Given the description of an element on the screen output the (x, y) to click on. 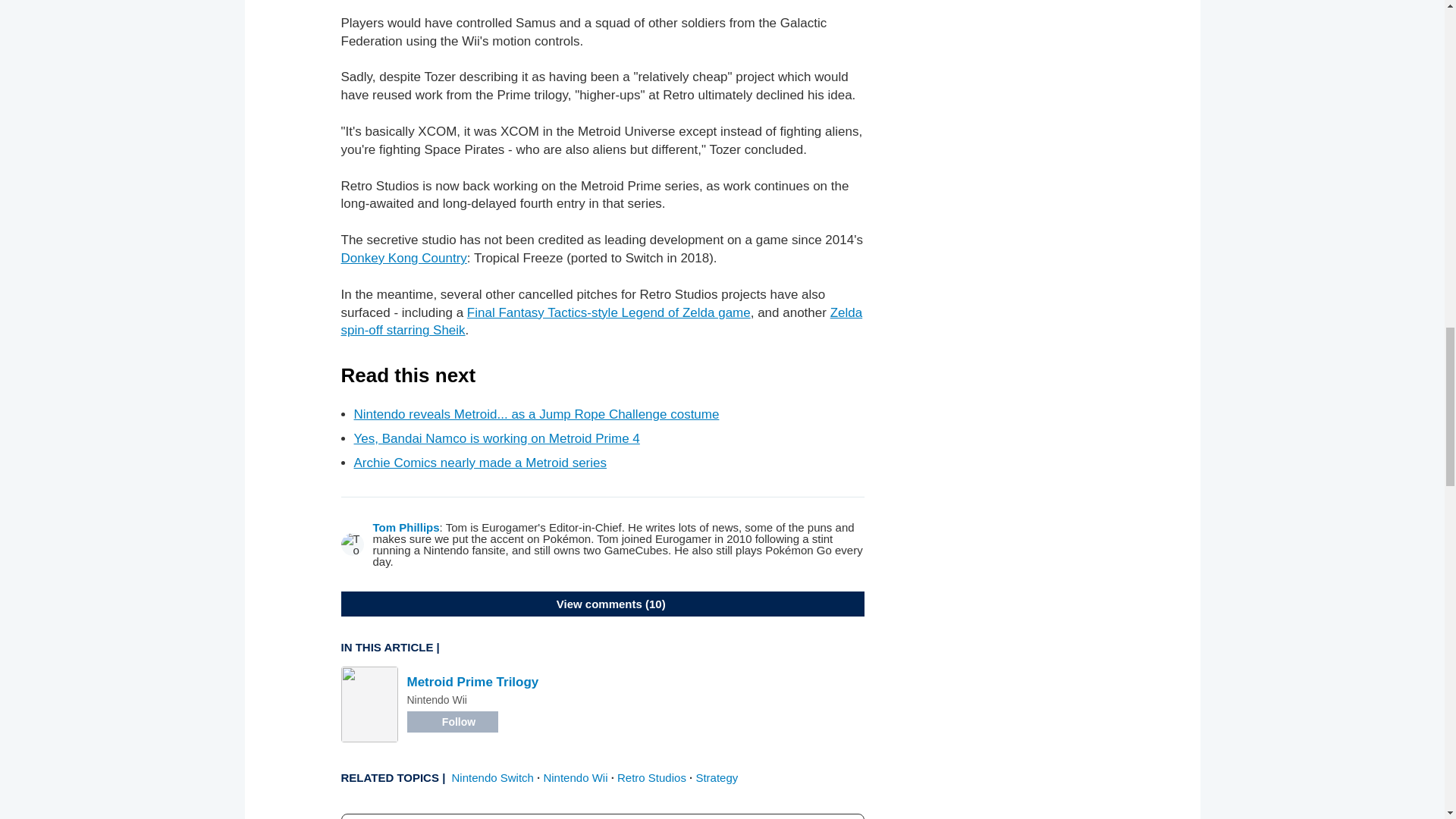
Yes, Bandai Namco is working on Metroid Prime 4 (496, 438)
Final Fantasy Tactics-style Legend of Zelda game (609, 312)
Nintendo reveals Metroid... as a Jump Rope Challenge costume (536, 414)
Zelda spin-off starring Sheik (601, 321)
Donkey Kong Country (403, 257)
Archie Comics nearly made a Metroid series (480, 462)
